Given the description of an element on the screen output the (x, y) to click on. 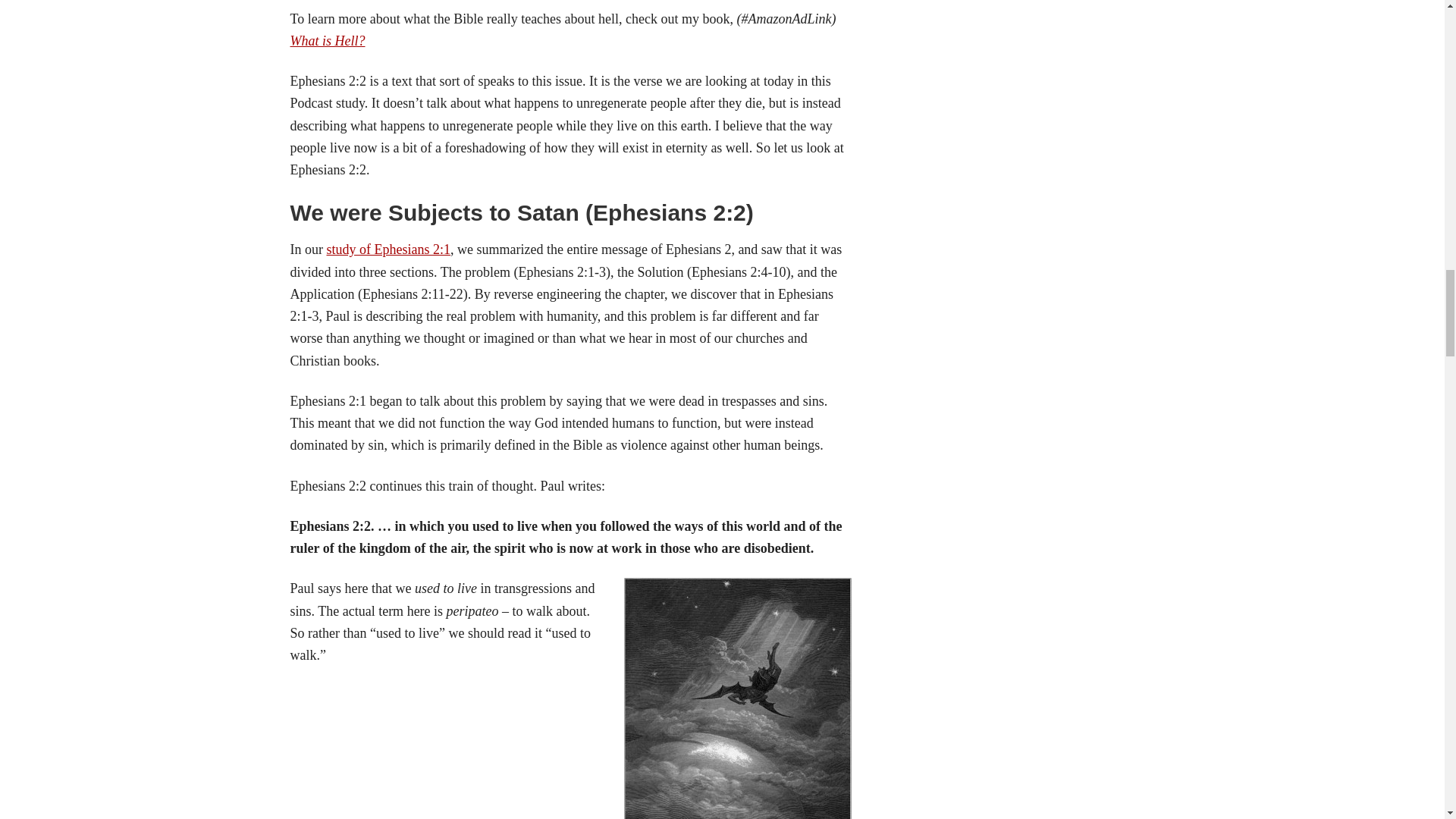
study of Ephesians 2:1 (387, 249)
What is Hell? (327, 40)
